Given the description of an element on the screen output the (x, y) to click on. 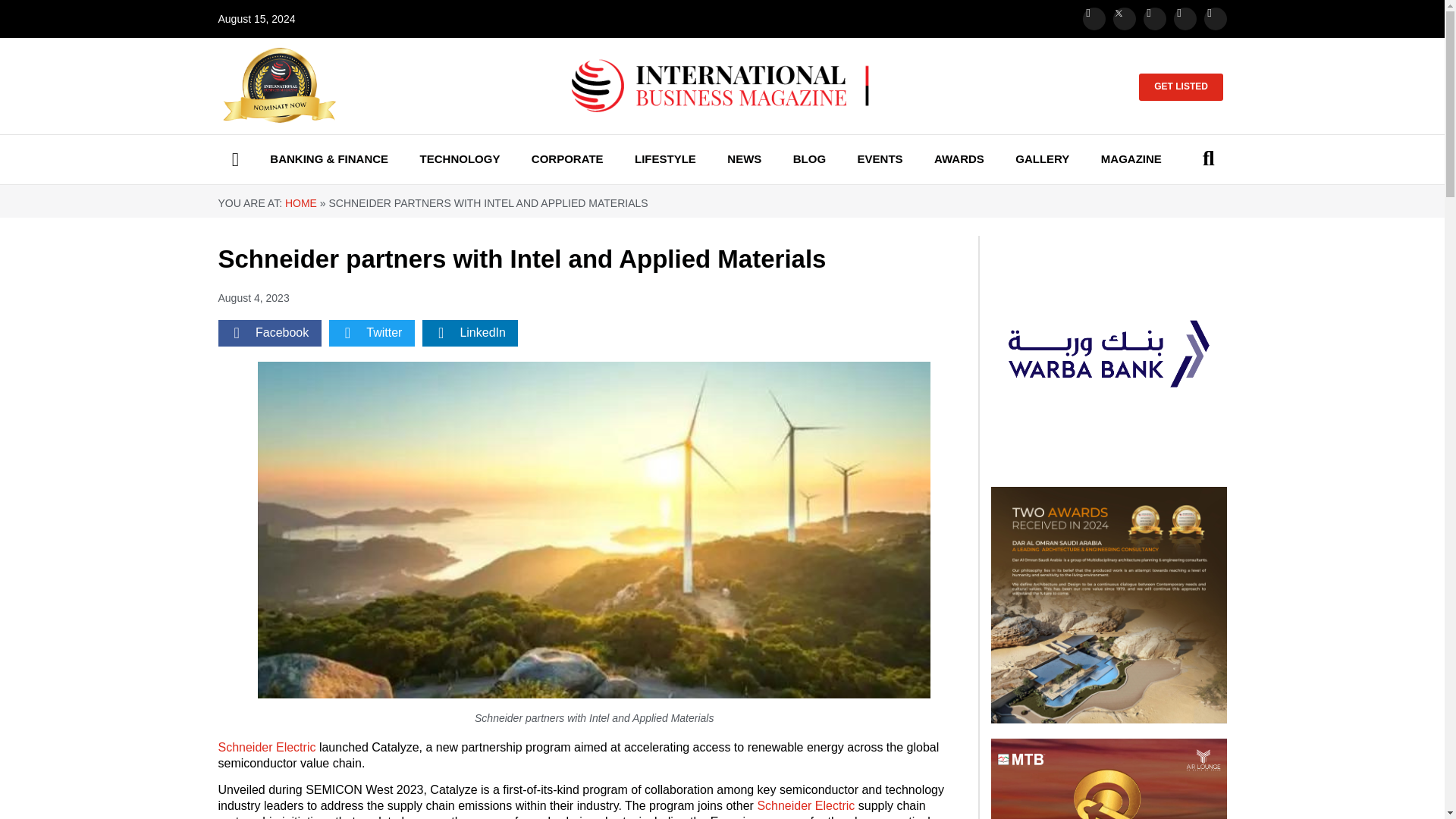
EVENTS (879, 159)
LIFESTYLE (665, 159)
CORPORATE (567, 159)
logo banner warba (1109, 353)
AWARDS (958, 159)
TECHNOLOGY (459, 159)
MAGAZINE (1130, 159)
GET LISTED (1180, 86)
Banner Ad 1 (1109, 604)
NEWS (743, 159)
